Given the description of an element on the screen output the (x, y) to click on. 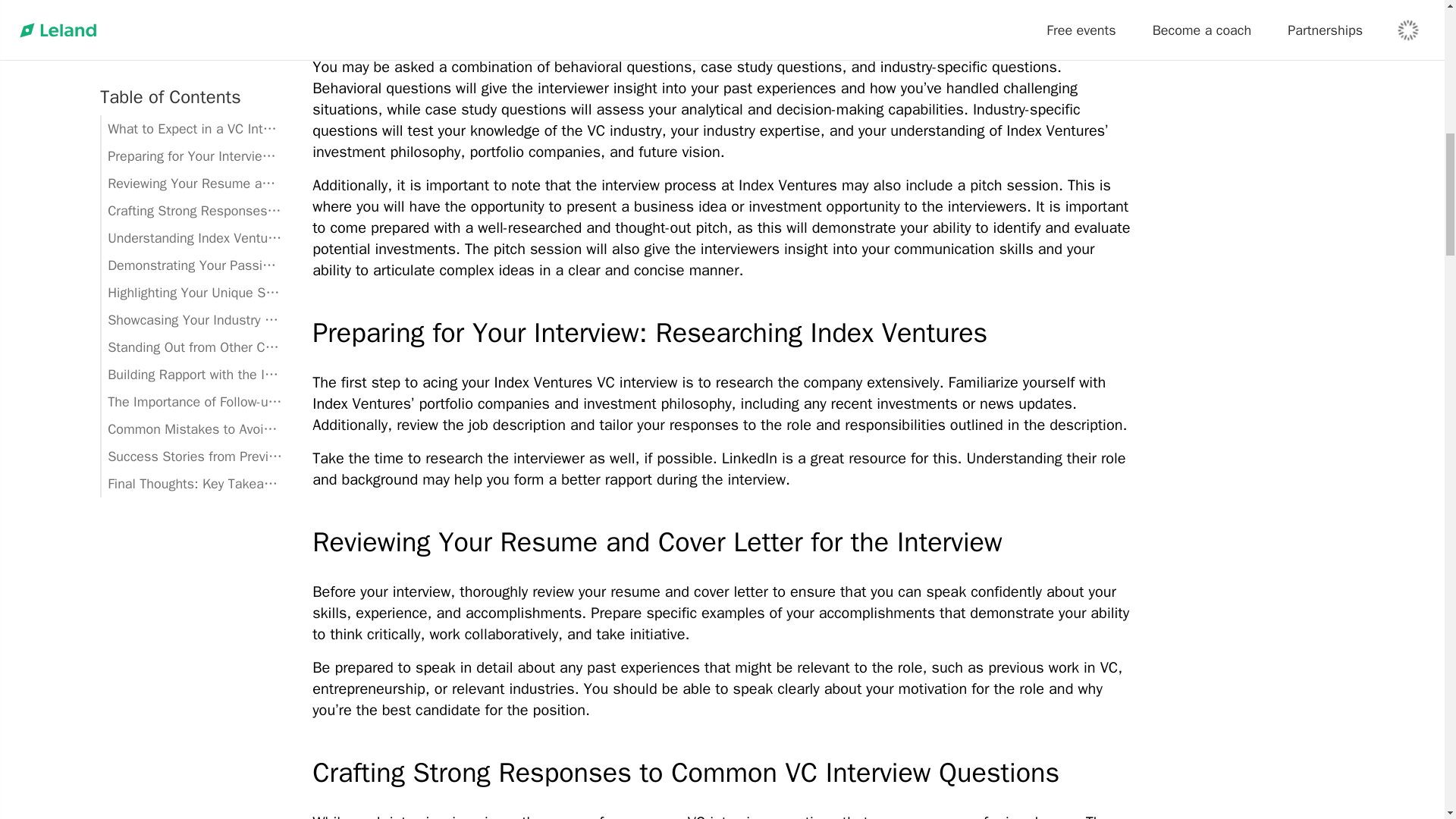
Common Mistakes to Avoid During a VC Interview (191, 136)
Reviewing Your Resume and Cover Letter for the Interview (722, 542)
Success Stories from Previous Index Ventures VC Interviewees (191, 164)
Preparing for Your Interview: Researching Index Ventures (722, 332)
Highlighting Your Unique Skill Set and Experience (191, 7)
Crafting Strong Responses to Common VC Interview Questions (722, 772)
Showcasing Your Industry Knowledge and Insights (191, 27)
